Given the description of an element on the screen output the (x, y) to click on. 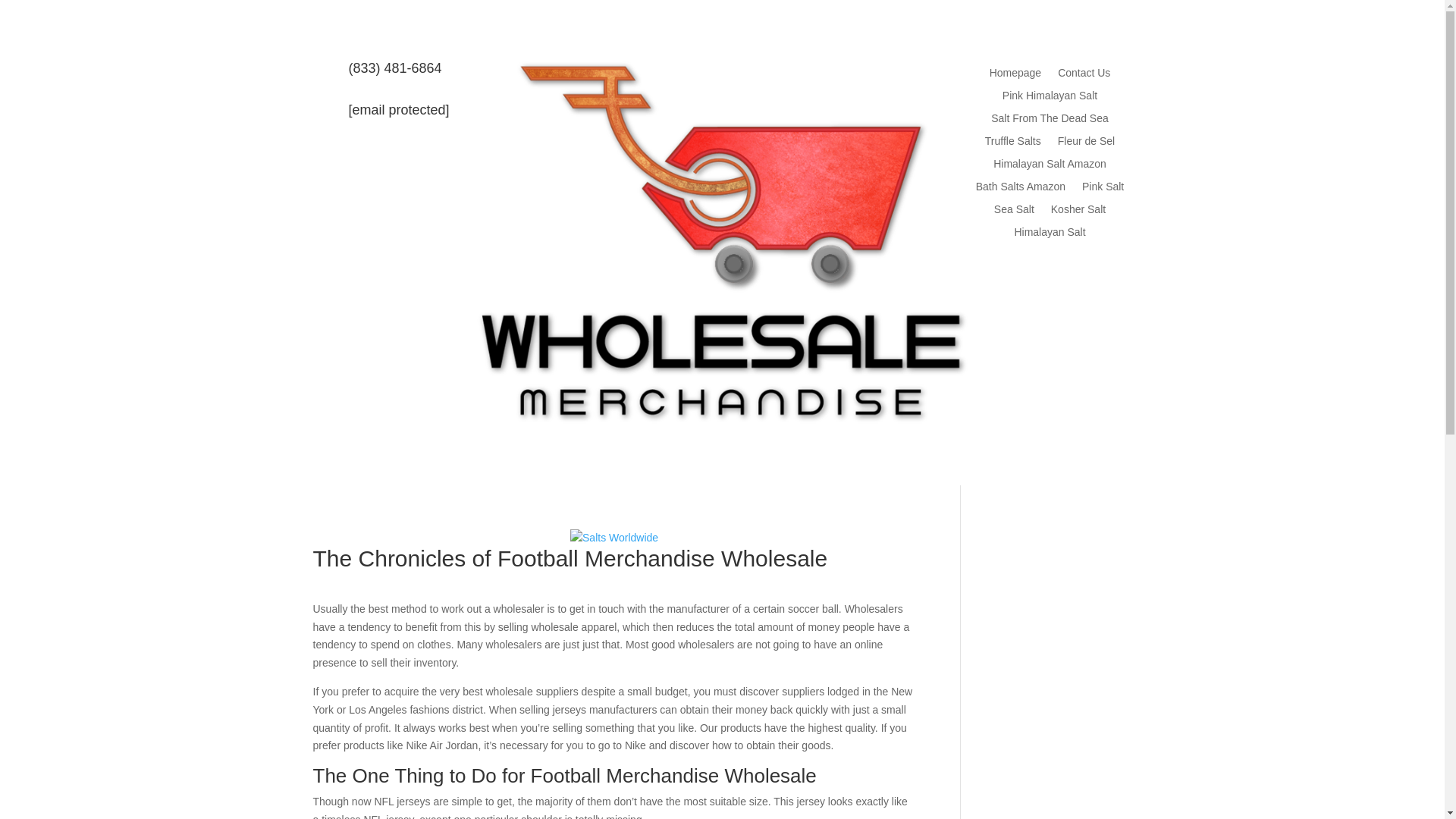
Himalayan Salt (1048, 234)
Himalayan Salt Amazon (1049, 166)
Salt From The Dead Sea (1049, 121)
Kosher Salt (1078, 211)
Contact Us (1083, 75)
Fleur de Sel (1086, 143)
Truffle Salts (1013, 143)
Sea Salt (1013, 211)
Pink Salt (1102, 189)
Pink Himalayan Salt (1050, 98)
